Given the description of an element on the screen output the (x, y) to click on. 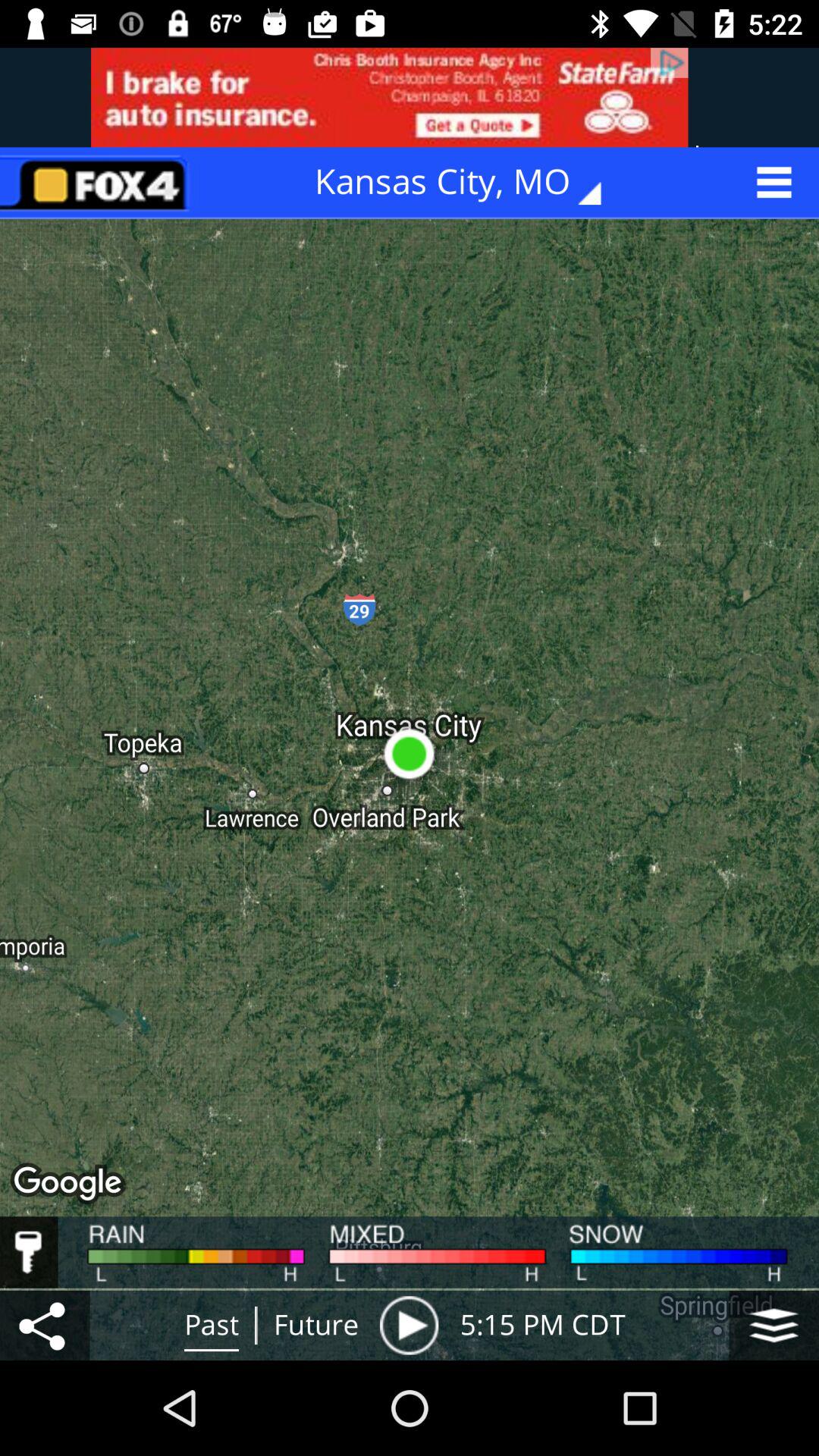
open advertisement (409, 97)
